Given the description of an element on the screen output the (x, y) to click on. 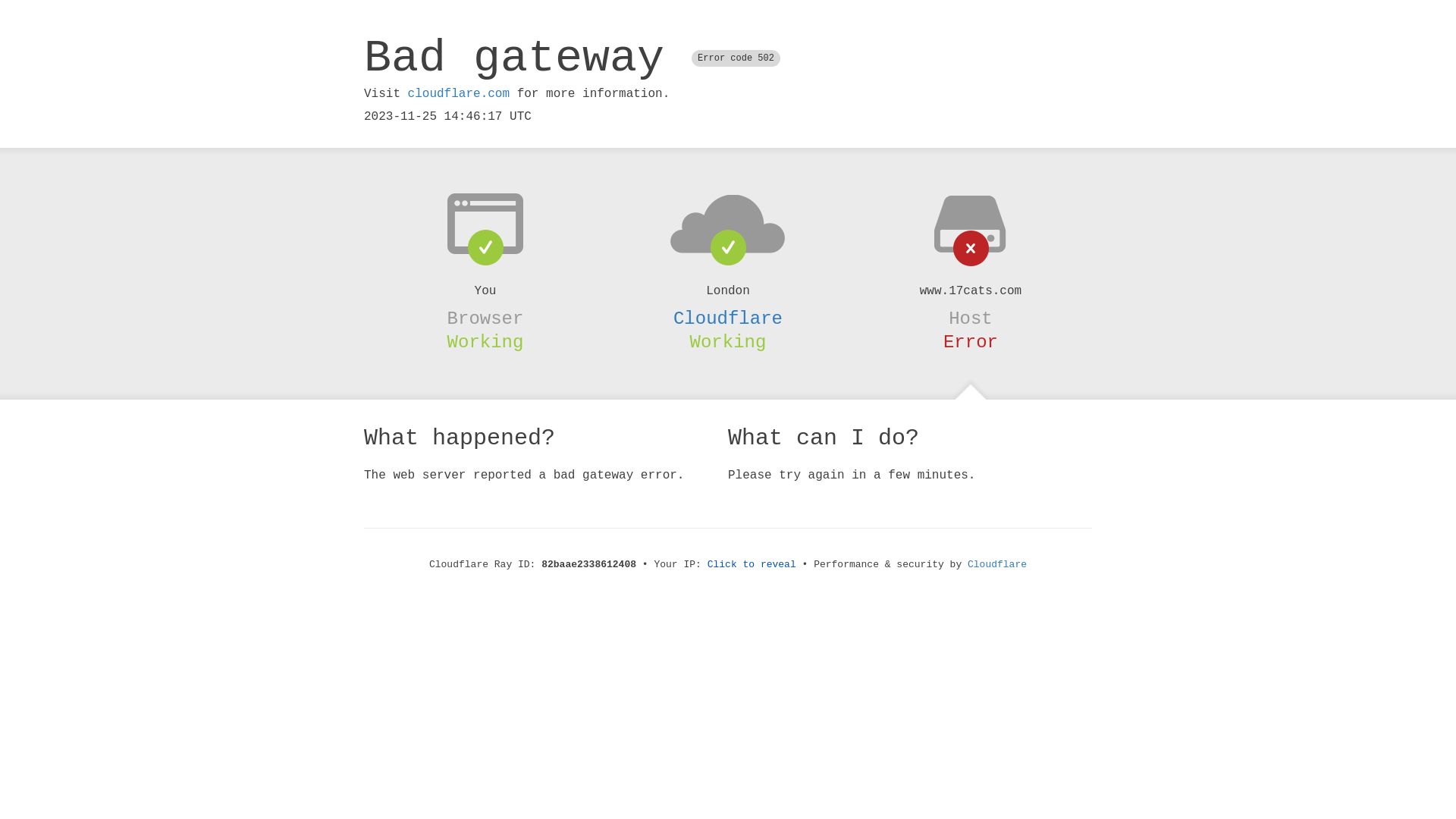
Cloudflare Element type: text (727, 318)
cloudflare.com Element type: text (458, 93)
Cloudflare Element type: text (996, 564)
Click to reveal Element type: text (751, 564)
